Given the description of an element on the screen output the (x, y) to click on. 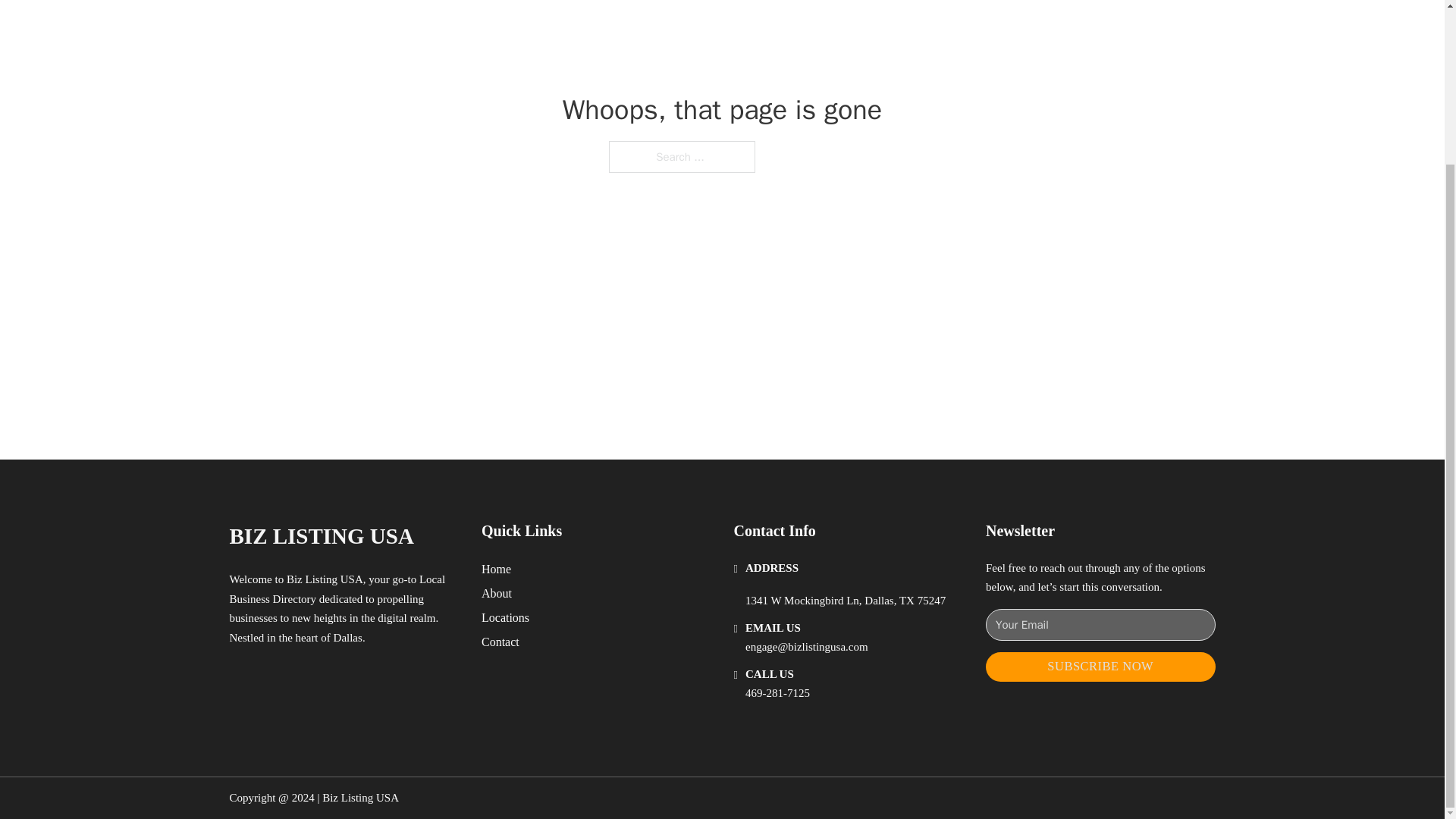
Locations (505, 617)
Contact (500, 641)
About (496, 593)
Home (496, 568)
BIZ LISTING USA (320, 536)
SUBSCRIBE NOW (1100, 666)
469-281-7125 (777, 693)
